Given the description of an element on the screen output the (x, y) to click on. 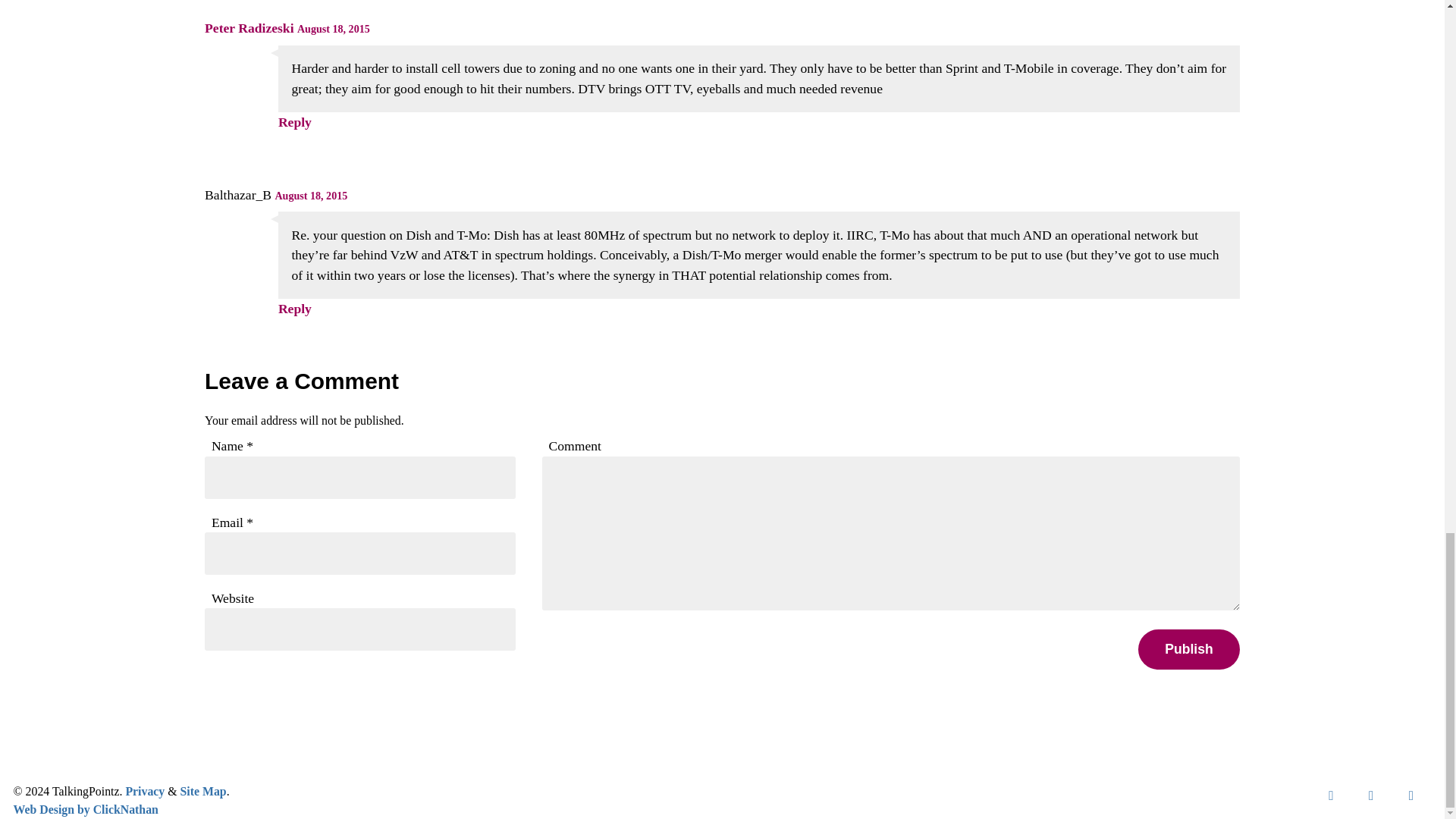
August 18, 2015 (333, 28)
Peter Radizeski (249, 28)
Publish (1189, 649)
